Given the description of an element on the screen output the (x, y) to click on. 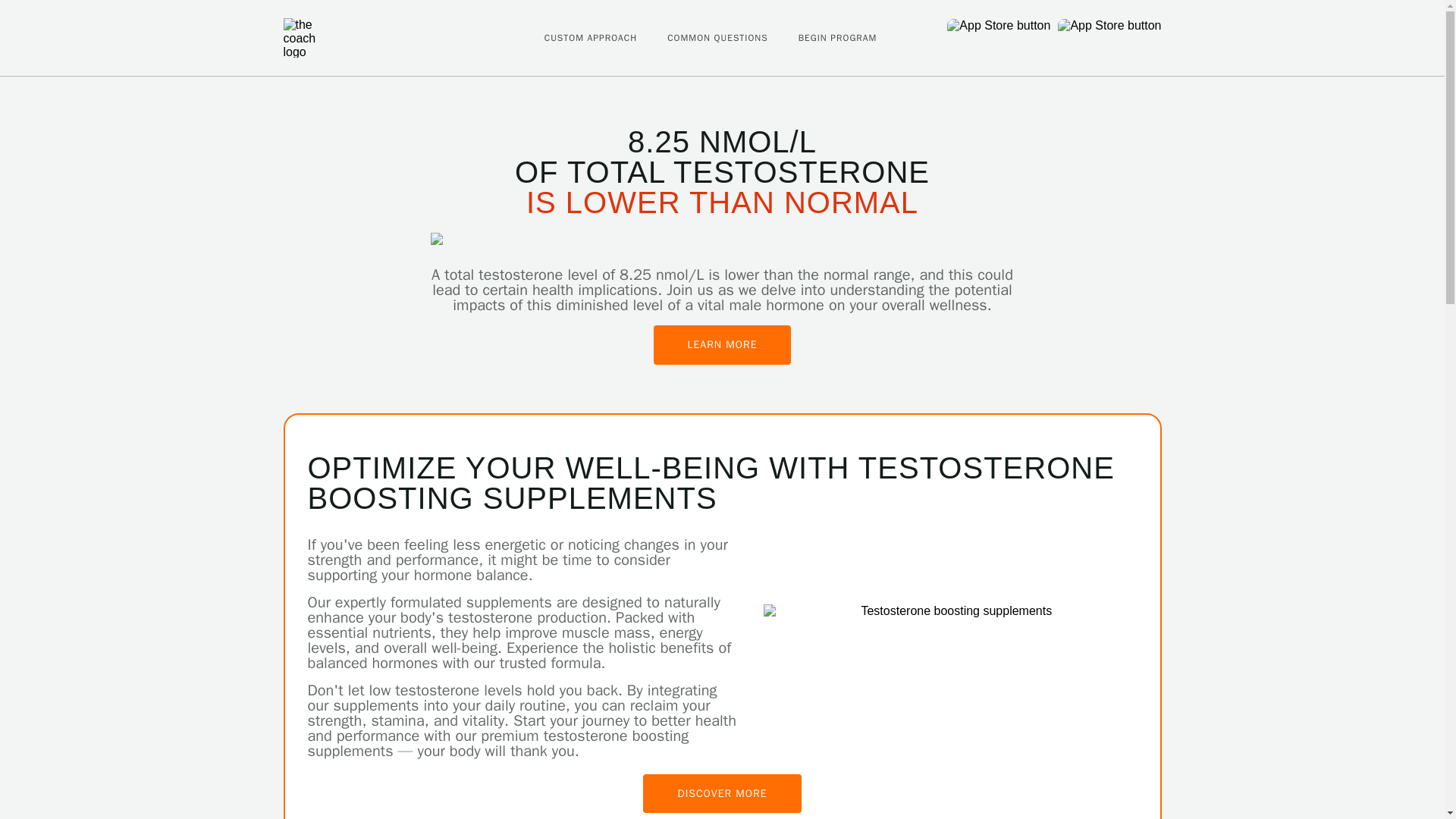
LEARN MORE (722, 344)
Testosterone boosting supplements (949, 611)
DISCOVER MORE (721, 793)
